Given the description of an element on the screen output the (x, y) to click on. 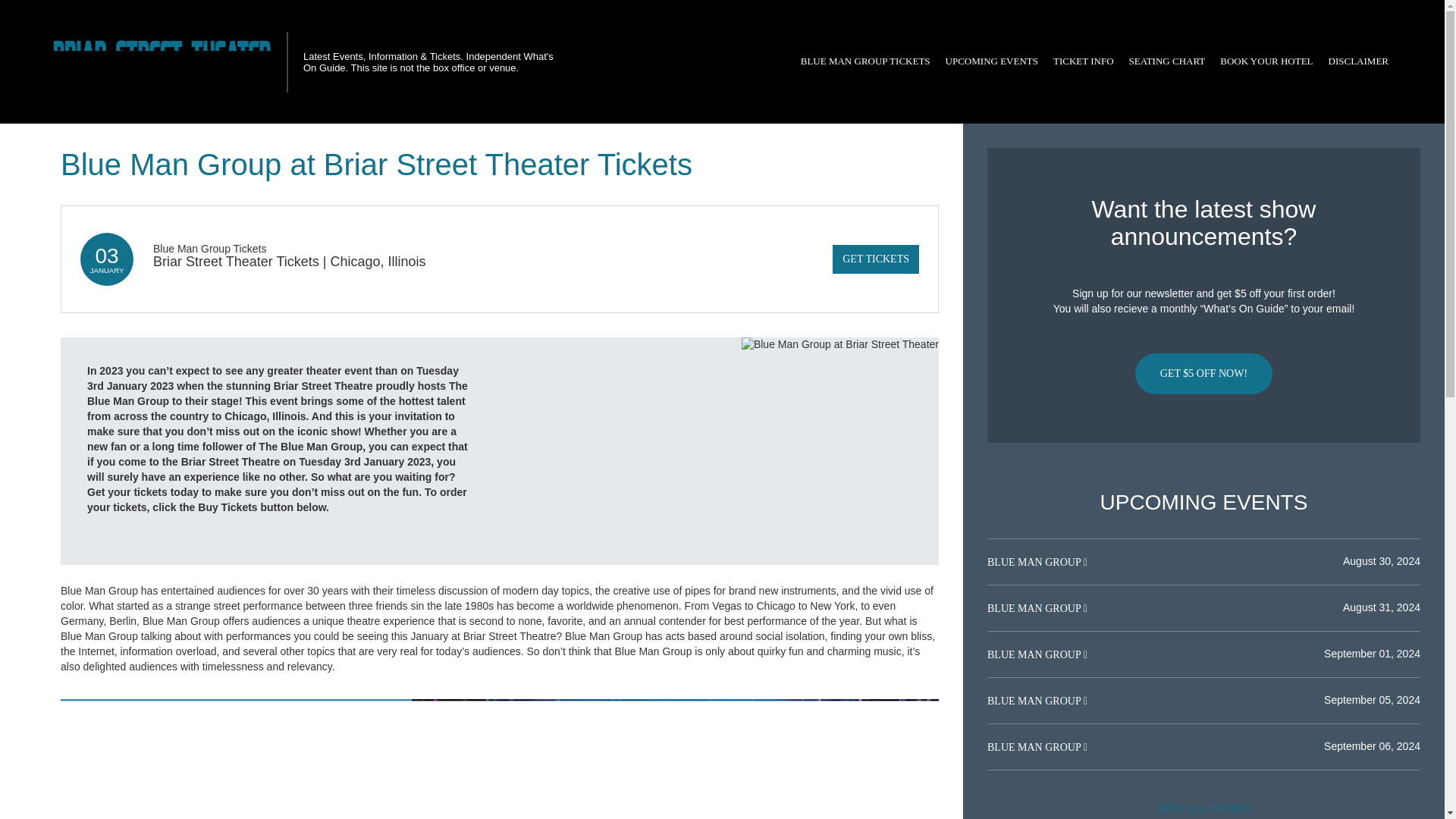
DISCLAIMER (1358, 61)
TICKET INFO (1083, 61)
SEATING CHART (1166, 61)
BOOK YOUR HOTEL (1266, 61)
Blue Man Group Tickets (209, 248)
VIEW ALL EVENTS (1203, 806)
BLUE MAN GROUP TICKETS (865, 61)
UPCOMING EVENTS (991, 61)
Blue Man Group at Briar Street Theater tickets (500, 759)
GET TICKETS (875, 258)
